Given the description of an element on the screen output the (x, y) to click on. 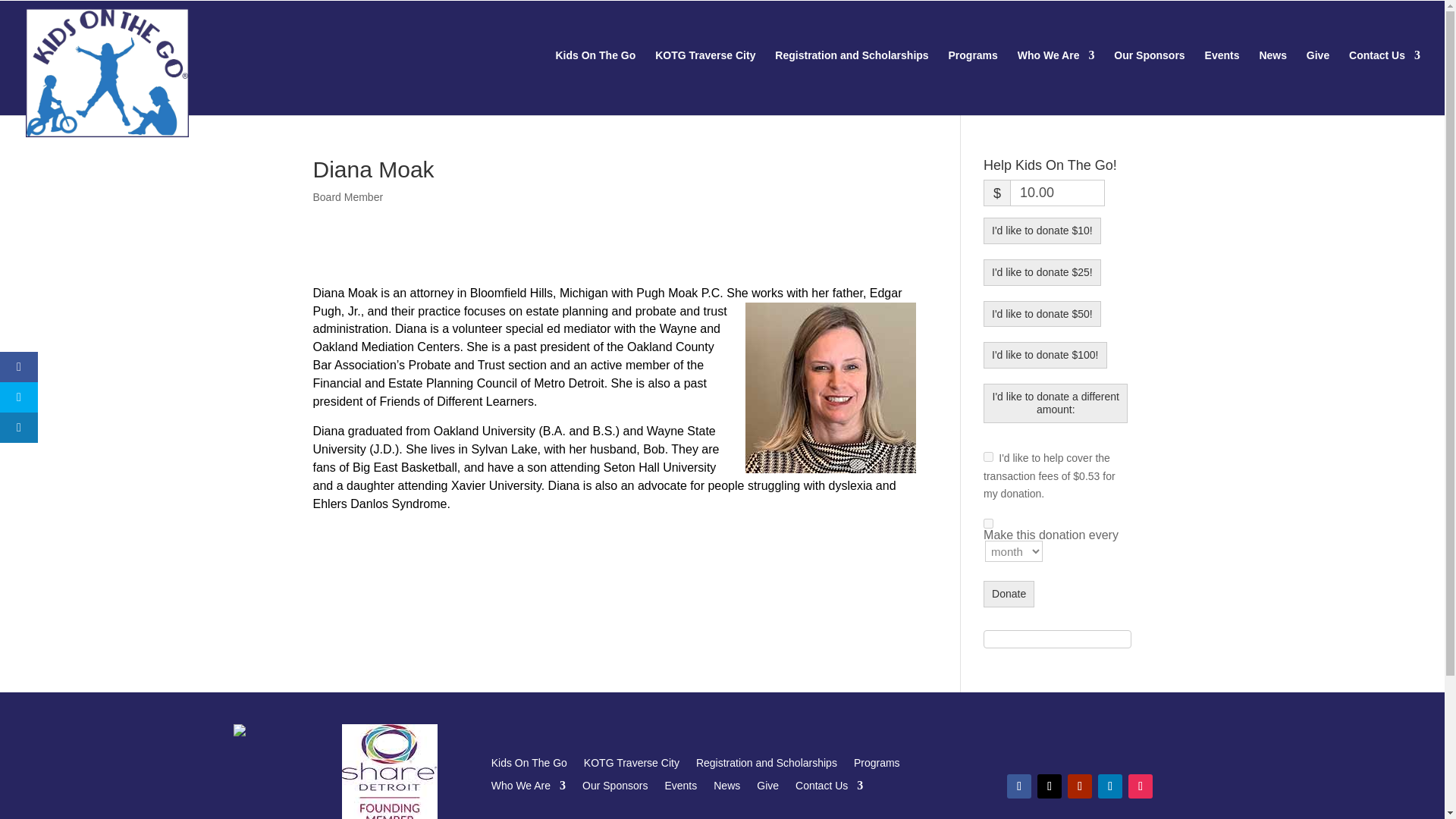
Kids On The Go (594, 79)
Follow on Instagram (1140, 785)
1 (988, 456)
Board Member (347, 196)
Donate (1008, 593)
10.00 (1057, 192)
Registration and Scholarships (851, 79)
Follow on Facebook (1018, 785)
on (988, 523)
Follow on Youtube (1079, 785)
